Given the description of an element on the screen output the (x, y) to click on. 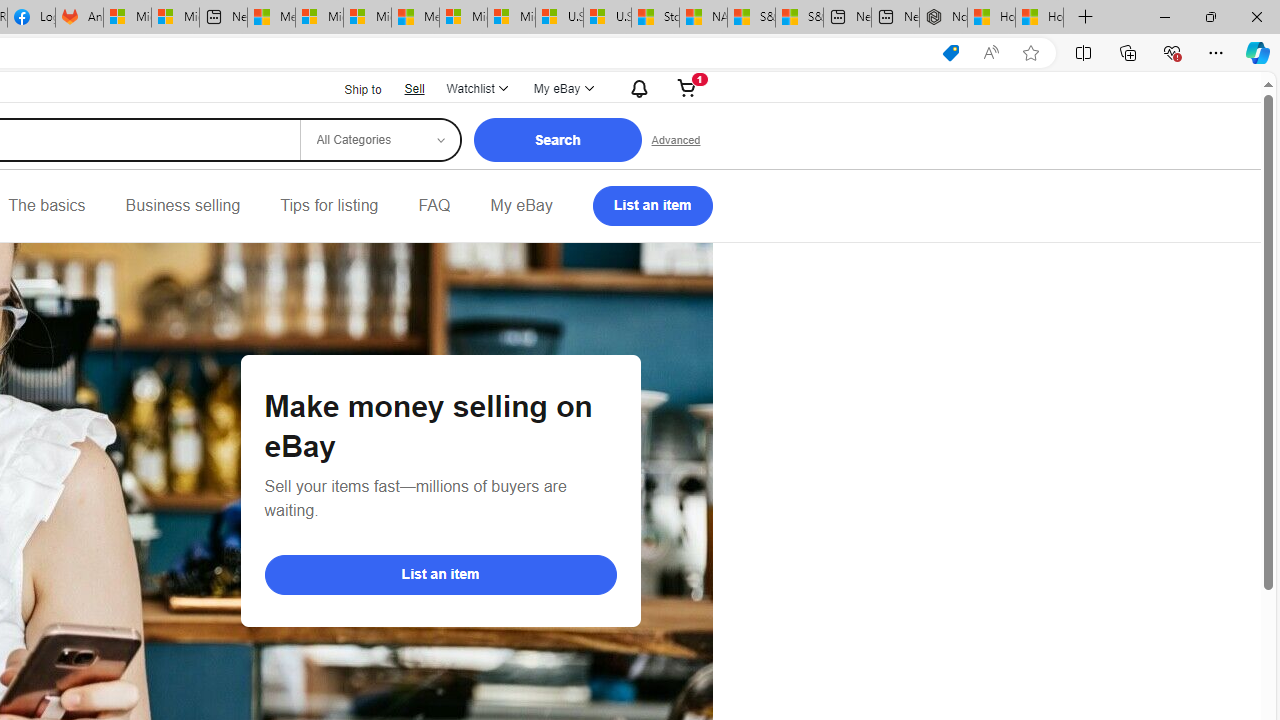
List an item (651, 205)
Business selling (182, 205)
Your shopping cart contains 1 item (687, 88)
Microsoft account | Home (367, 17)
Tips for listing (329, 205)
This site has coupons! Shopping in Microsoft Edge (950, 53)
WatchlistExpand Watch List (476, 88)
